Given the description of an element on the screen output the (x, y) to click on. 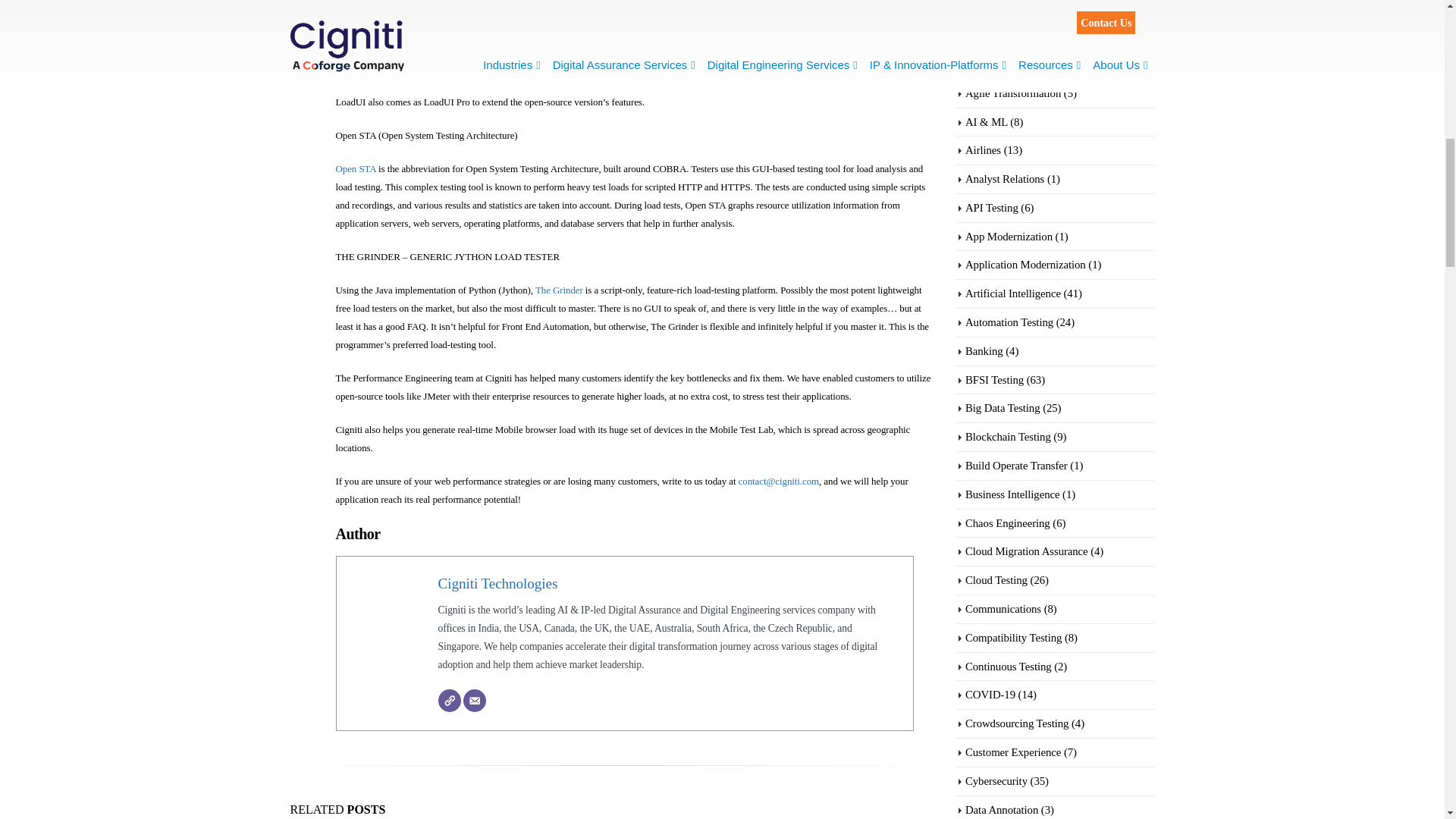
Cigniti Technologies (497, 583)
